Given the description of an element on the screen output the (x, y) to click on. 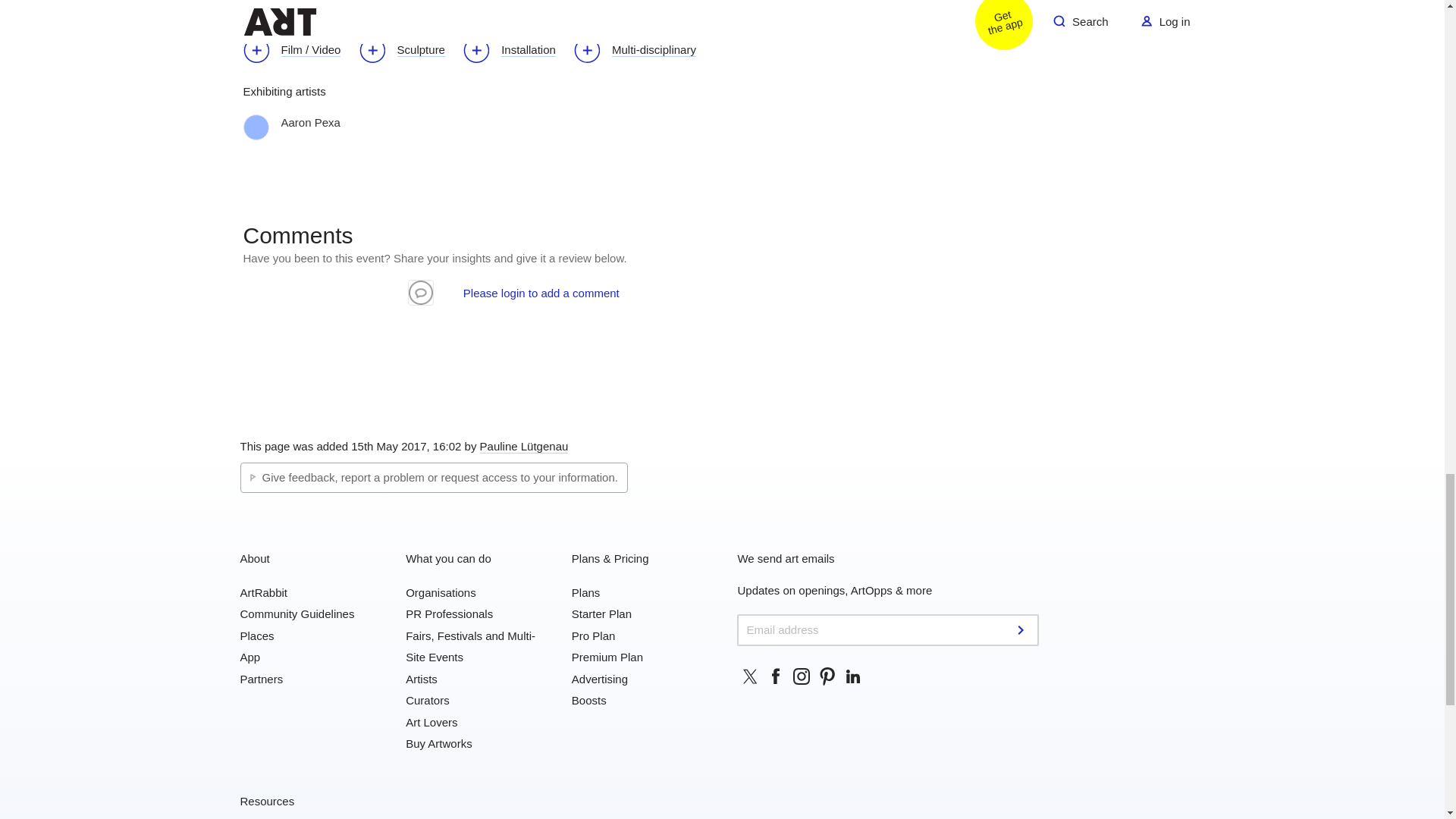
Installation (516, 51)
submit (1021, 629)
Sculpture (409, 51)
